Given the description of an element on the screen output the (x, y) to click on. 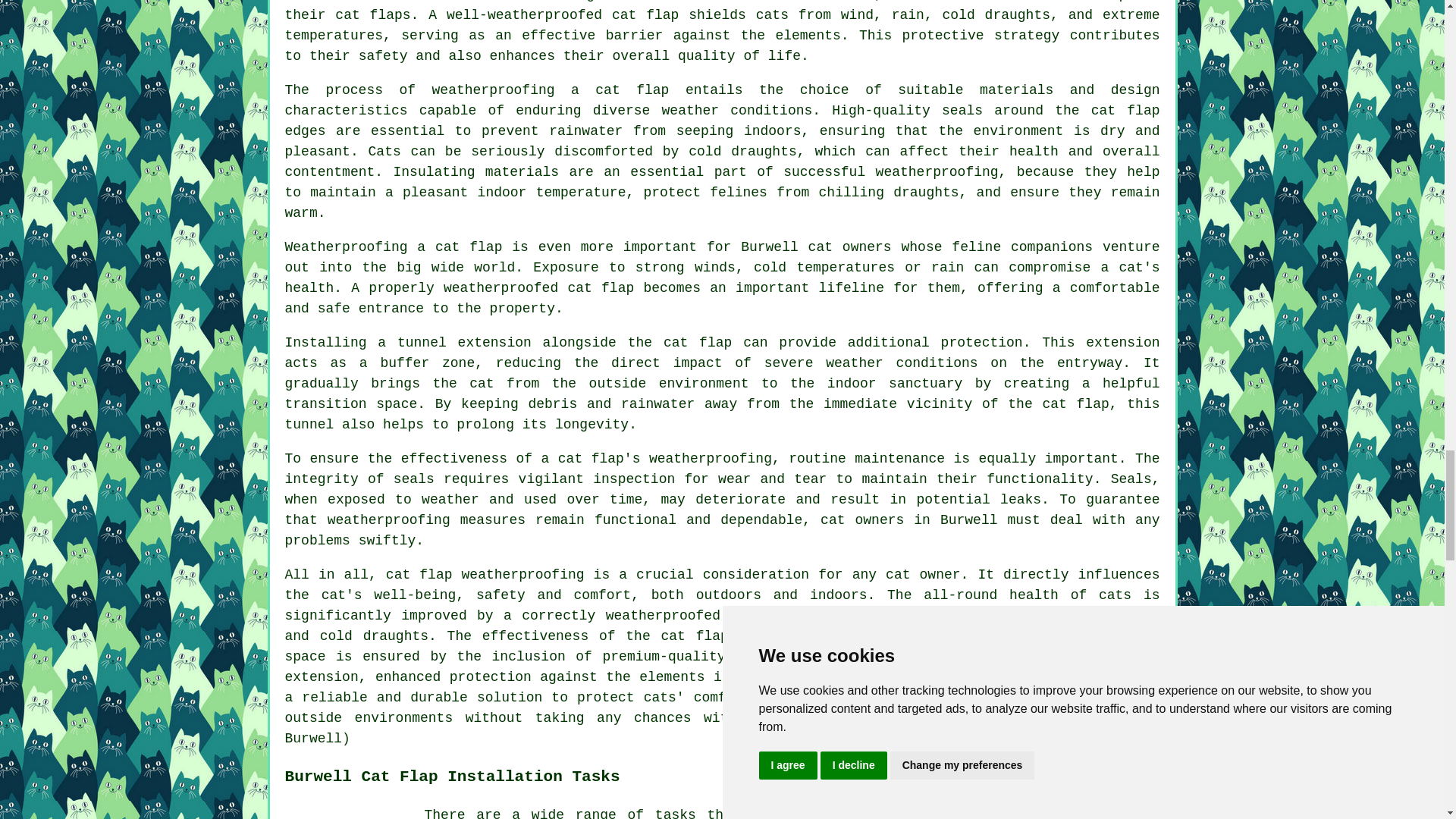
Burwell Cat Flap Installation Tasks (349, 812)
the cat flap (679, 342)
maintenance (899, 458)
